Given the description of an element on the screen output the (x, y) to click on. 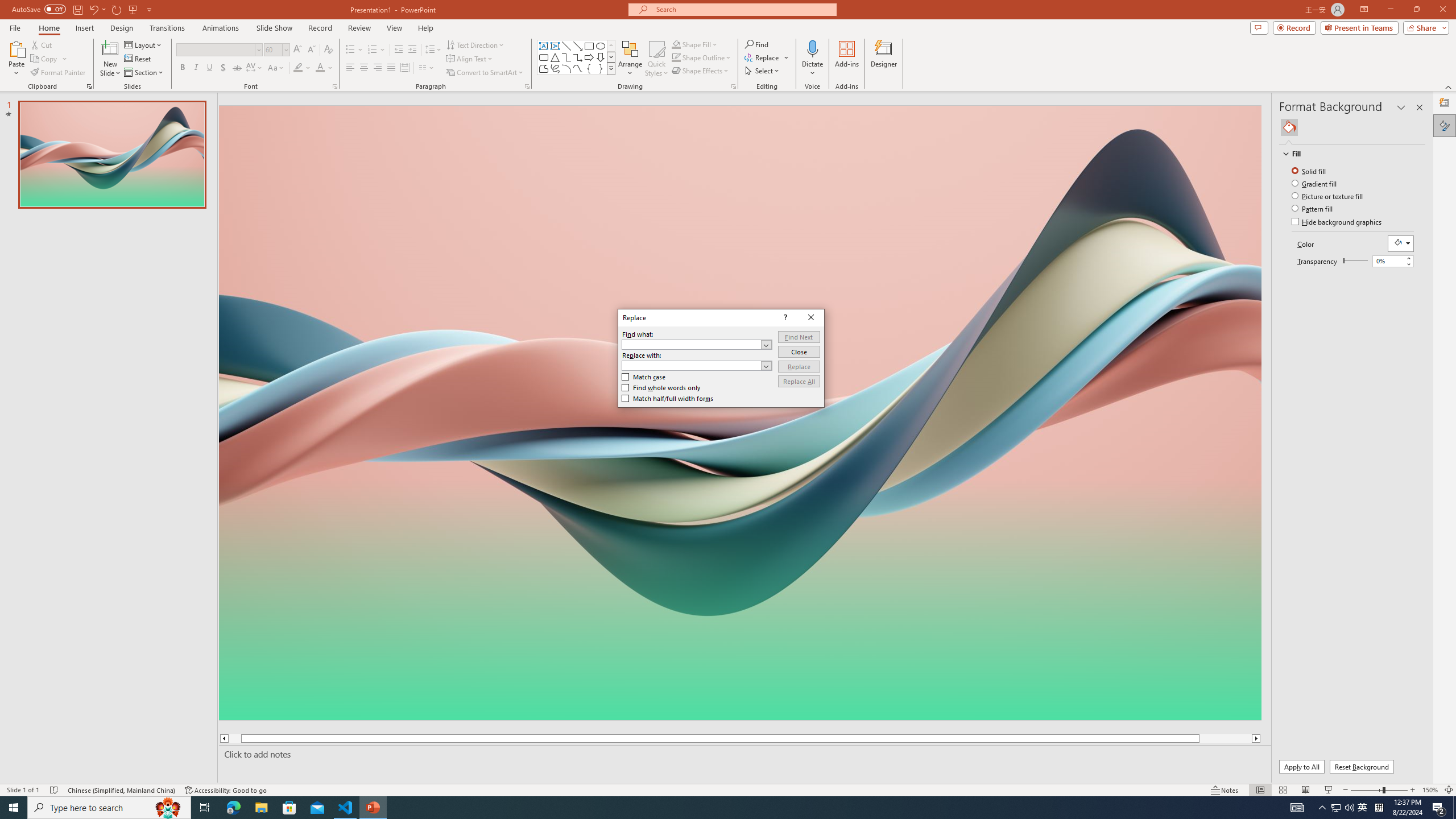
Transparency (1355, 260)
Context help (784, 317)
